Given the description of an element on the screen output the (x, y) to click on. 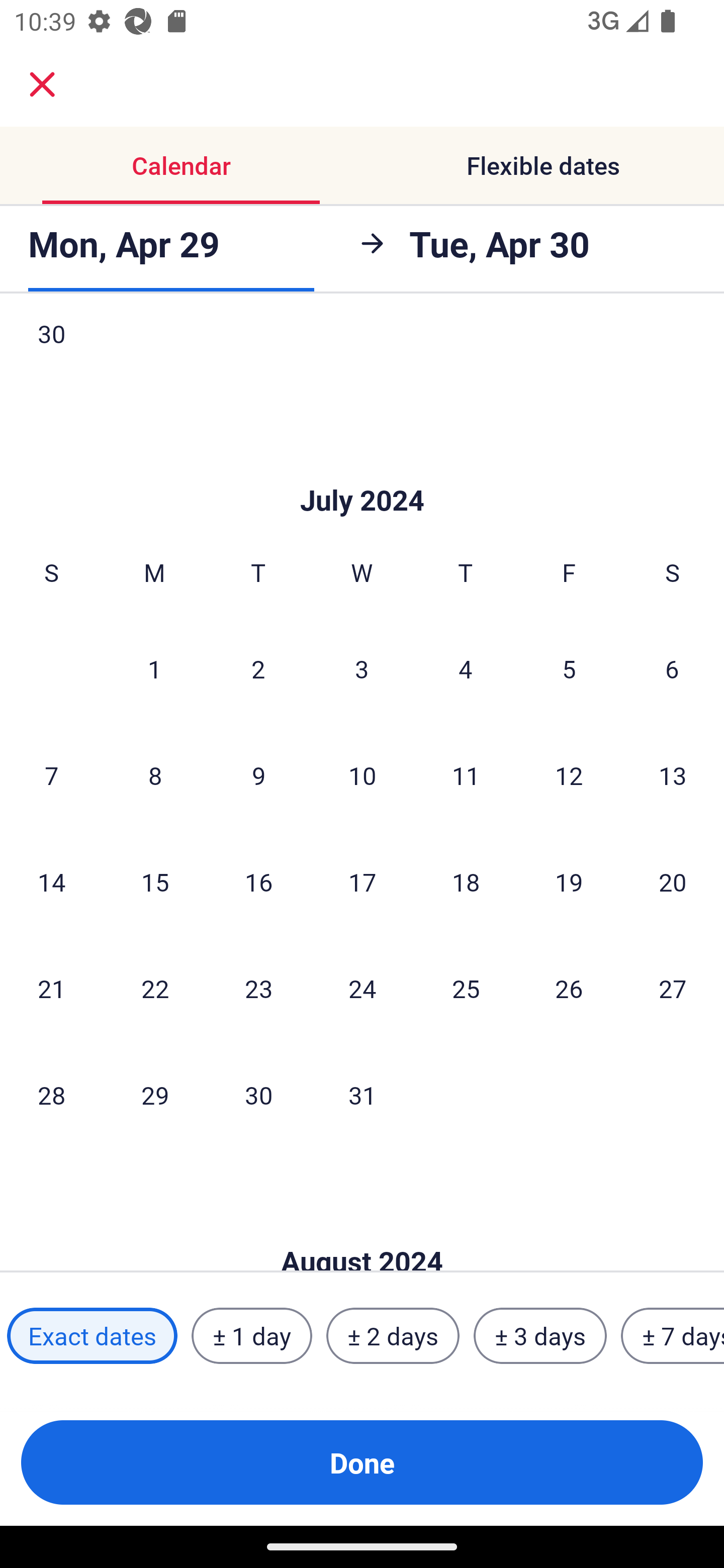
close. (42, 84)
Flexible dates (542, 164)
30 Sunday, June 30, 2024 (51, 353)
Skip to Done (362, 470)
1 Monday, July 1, 2024 (154, 668)
2 Tuesday, July 2, 2024 (257, 668)
3 Wednesday, July 3, 2024 (361, 668)
4 Thursday, July 4, 2024 (465, 668)
5 Friday, July 5, 2024 (568, 668)
6 Saturday, July 6, 2024 (672, 668)
7 Sunday, July 7, 2024 (51, 775)
8 Monday, July 8, 2024 (155, 775)
9 Tuesday, July 9, 2024 (258, 775)
10 Wednesday, July 10, 2024 (362, 775)
11 Thursday, July 11, 2024 (465, 775)
12 Friday, July 12, 2024 (569, 775)
13 Saturday, July 13, 2024 (672, 775)
14 Sunday, July 14, 2024 (51, 880)
15 Monday, July 15, 2024 (155, 880)
16 Tuesday, July 16, 2024 (258, 880)
17 Wednesday, July 17, 2024 (362, 880)
18 Thursday, July 18, 2024 (465, 880)
19 Friday, July 19, 2024 (569, 880)
20 Saturday, July 20, 2024 (672, 880)
21 Sunday, July 21, 2024 (51, 987)
22 Monday, July 22, 2024 (155, 987)
23 Tuesday, July 23, 2024 (258, 987)
24 Wednesday, July 24, 2024 (362, 987)
25 Thursday, July 25, 2024 (465, 987)
26 Friday, July 26, 2024 (569, 987)
27 Saturday, July 27, 2024 (672, 987)
28 Sunday, July 28, 2024 (51, 1094)
29 Monday, July 29, 2024 (155, 1094)
30 Tuesday, July 30, 2024 (258, 1094)
31 Wednesday, July 31, 2024 (362, 1094)
Skip to Done (362, 1230)
Exact dates (92, 1335)
± 1 day (251, 1335)
± 2 days (392, 1335)
± 3 days (539, 1335)
± 7 days (672, 1335)
Done (361, 1462)
